Given the description of an element on the screen output the (x, y) to click on. 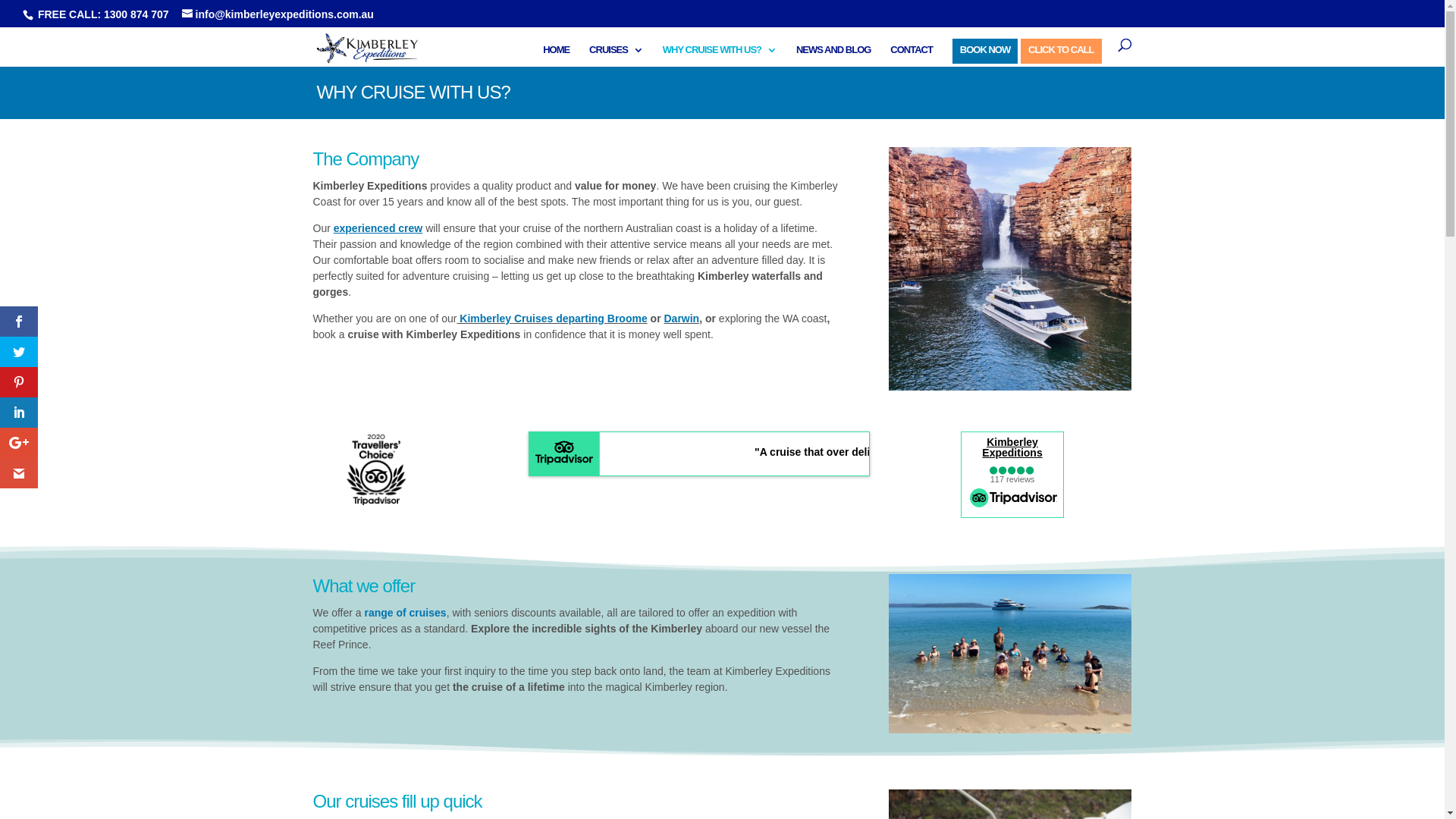
BOOK NOW Element type: text (985, 55)
WHY CRUISE WITH US? Element type: text (719, 55)
KE People Photos (130) (Small) Element type: hover (1009, 654)
Darwin Element type: text (681, 318)
NEWS AND BLOG Element type: text (833, 55)
CRUISES Element type: text (616, 55)
HOME Element type: text (555, 55)
range of cruises Element type: text (404, 612)
1300 874 707 Element type: text (136, 13)
Kimberley Cruises departing Broome Element type: text (551, 318)
experienced crew Element type: text (378, 228)
CLICK TO CALL Element type: text (1060, 55)
info@kimberleyexpeditions.com.au Element type: text (277, 13)
CONTACT Element type: text (911, 55)
Kimberley Expeditions Element type: text (1011, 447)
